Given the description of an element on the screen output the (x, y) to click on. 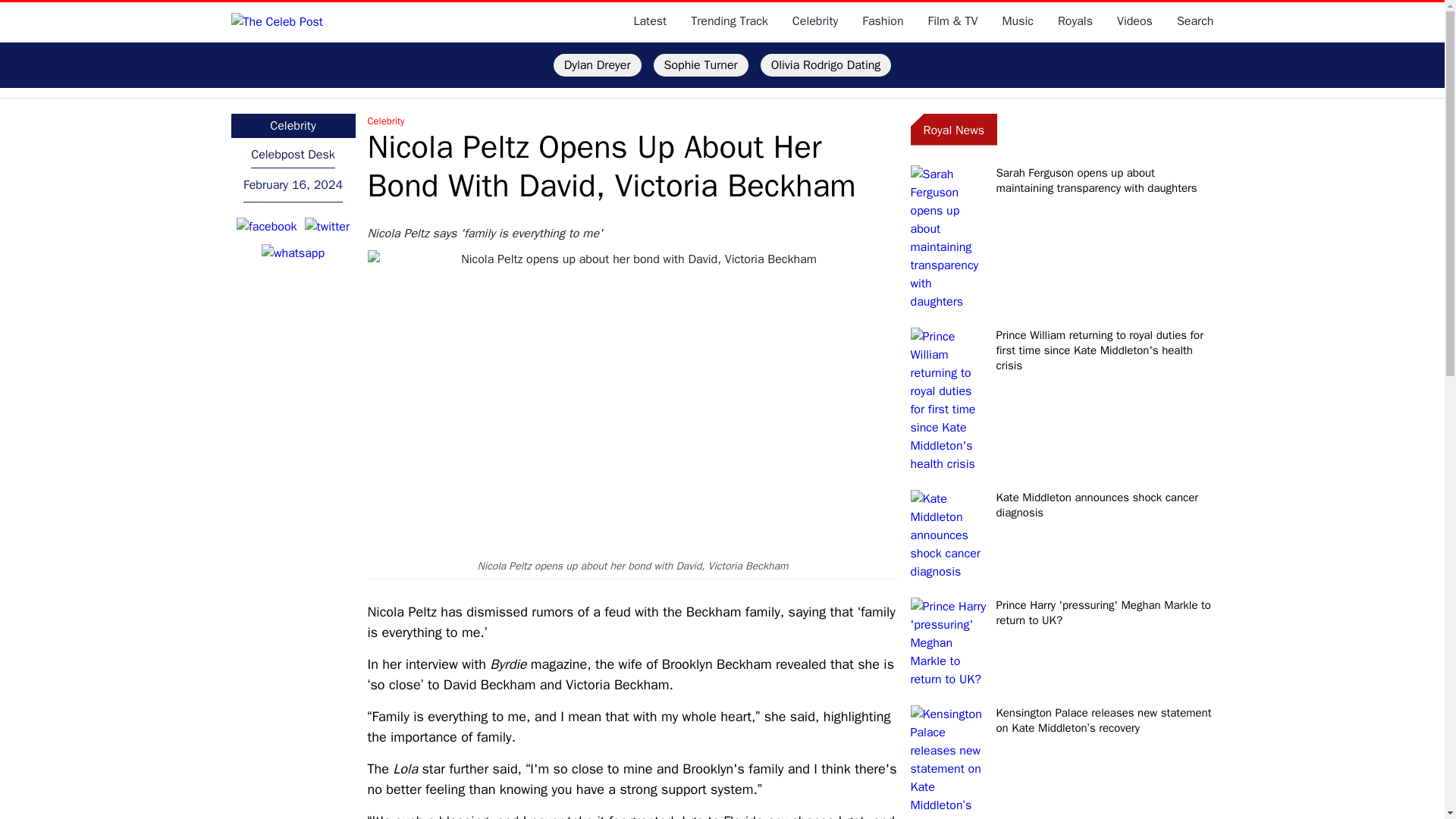
Celebrity (292, 126)
Celebrity (815, 21)
Celebrity (815, 21)
Trending Track (729, 21)
Latest (649, 21)
Search (1195, 21)
Videos (1134, 21)
Royals (1075, 21)
Celebpost Desk (292, 154)
Search (1195, 21)
Trending Track (729, 21)
Dylan Dreyer (597, 65)
Sophie Turner (700, 65)
Celebrity (632, 120)
Videos (1134, 21)
